Given the description of an element on the screen output the (x, y) to click on. 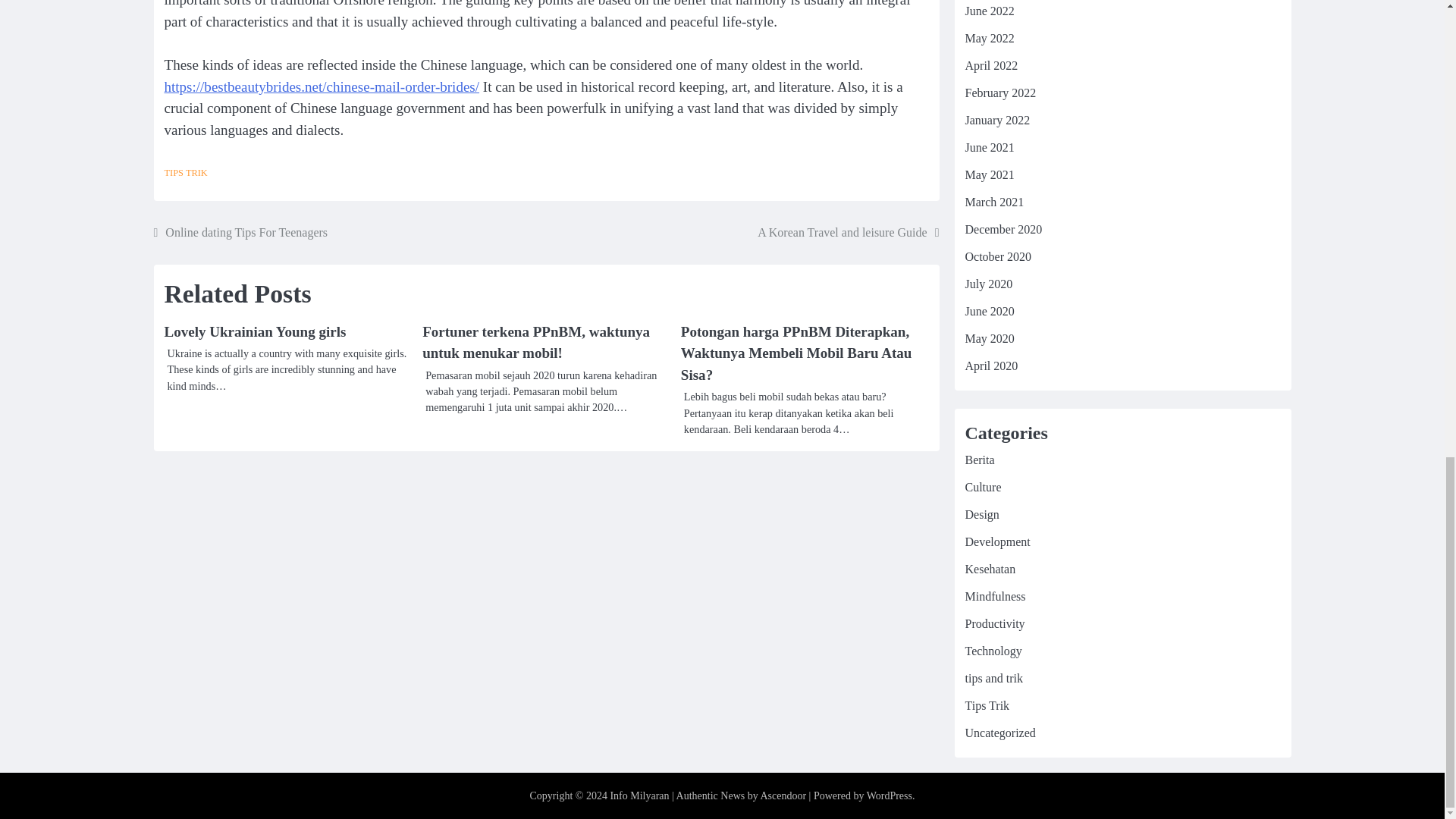
A Korean Travel and leisure Guide (848, 232)
Fortuner terkena PPnBM, waktunya untuk menukar mobil! (535, 342)
Online dating Tips For Teenagers (239, 232)
Lovely Ukrainian Young girls (254, 331)
TIPS TRIK (184, 172)
